Given the description of an element on the screen output the (x, y) to click on. 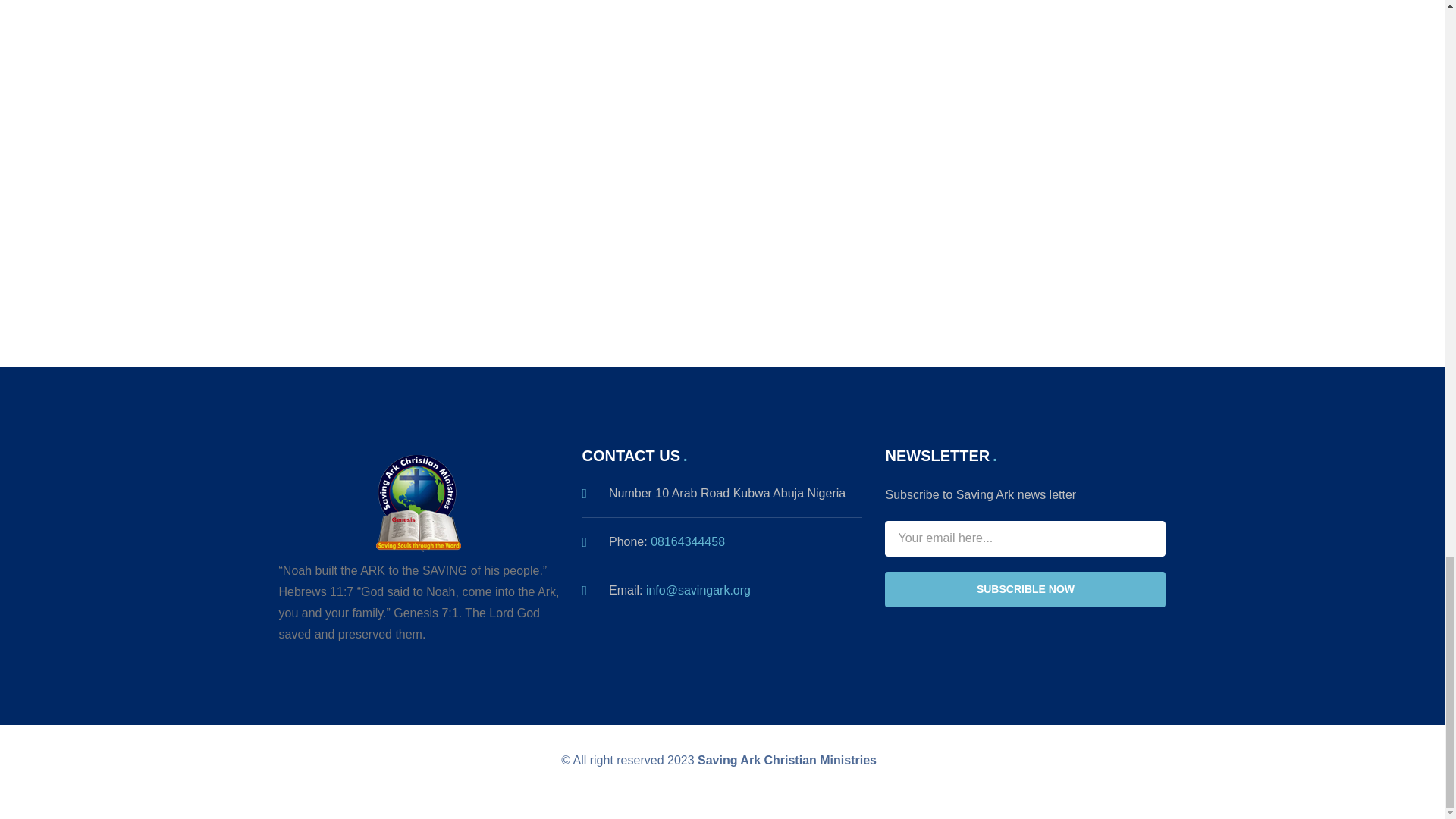
08164344458 (687, 541)
Saving Ark Christian Ministries (786, 759)
SUBSCRIBLE NOW (1025, 589)
